Given the description of an element on the screen output the (x, y) to click on. 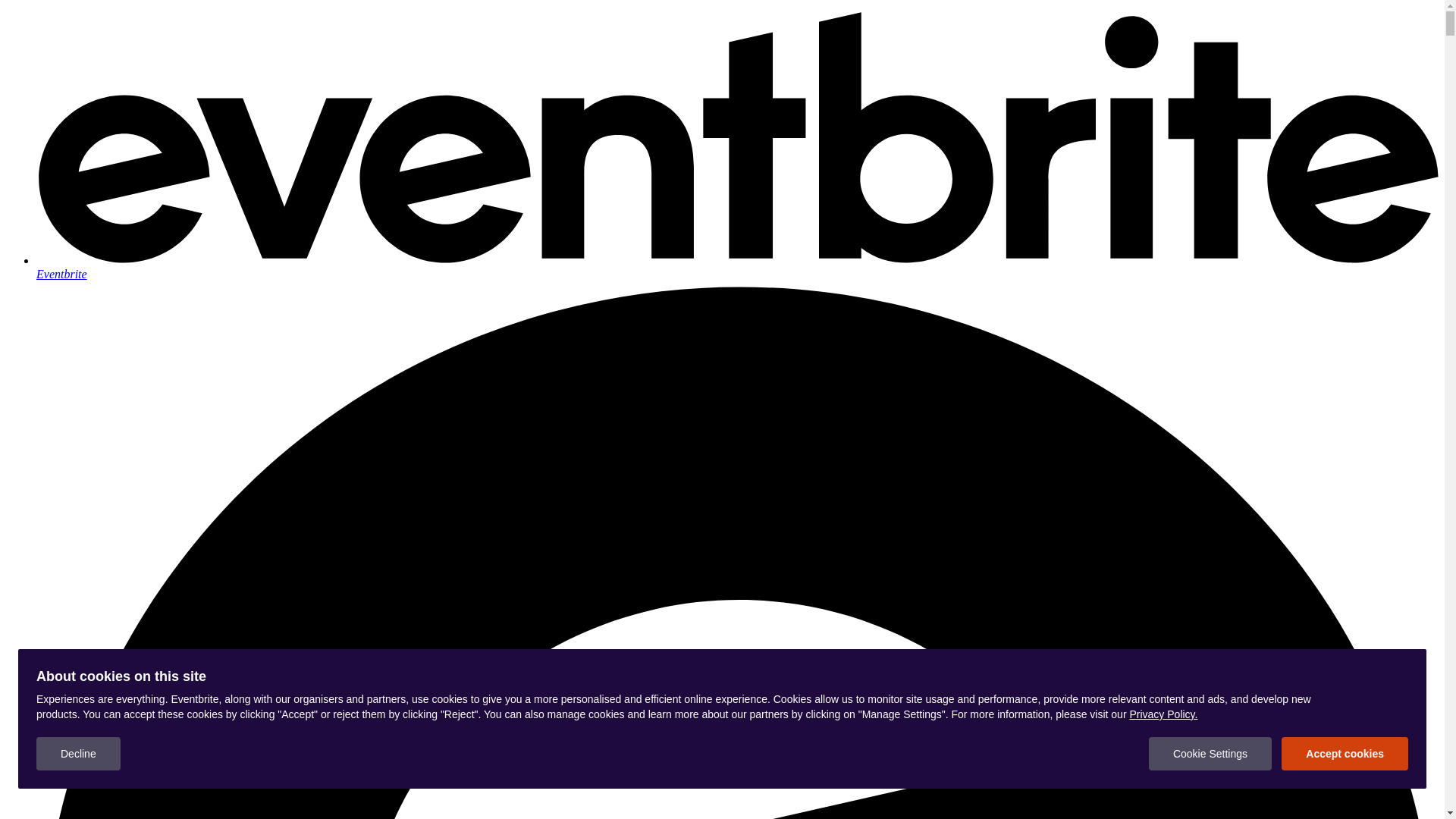
Decline Element type: text (78, 753)
Privacy Policy. Element type: text (1163, 714)
Accept cookies Element type: text (1344, 753)
Eventbrite Element type: text (737, 267)
Cookie Settings Element type: text (1209, 753)
